Given the description of an element on the screen output the (x, y) to click on. 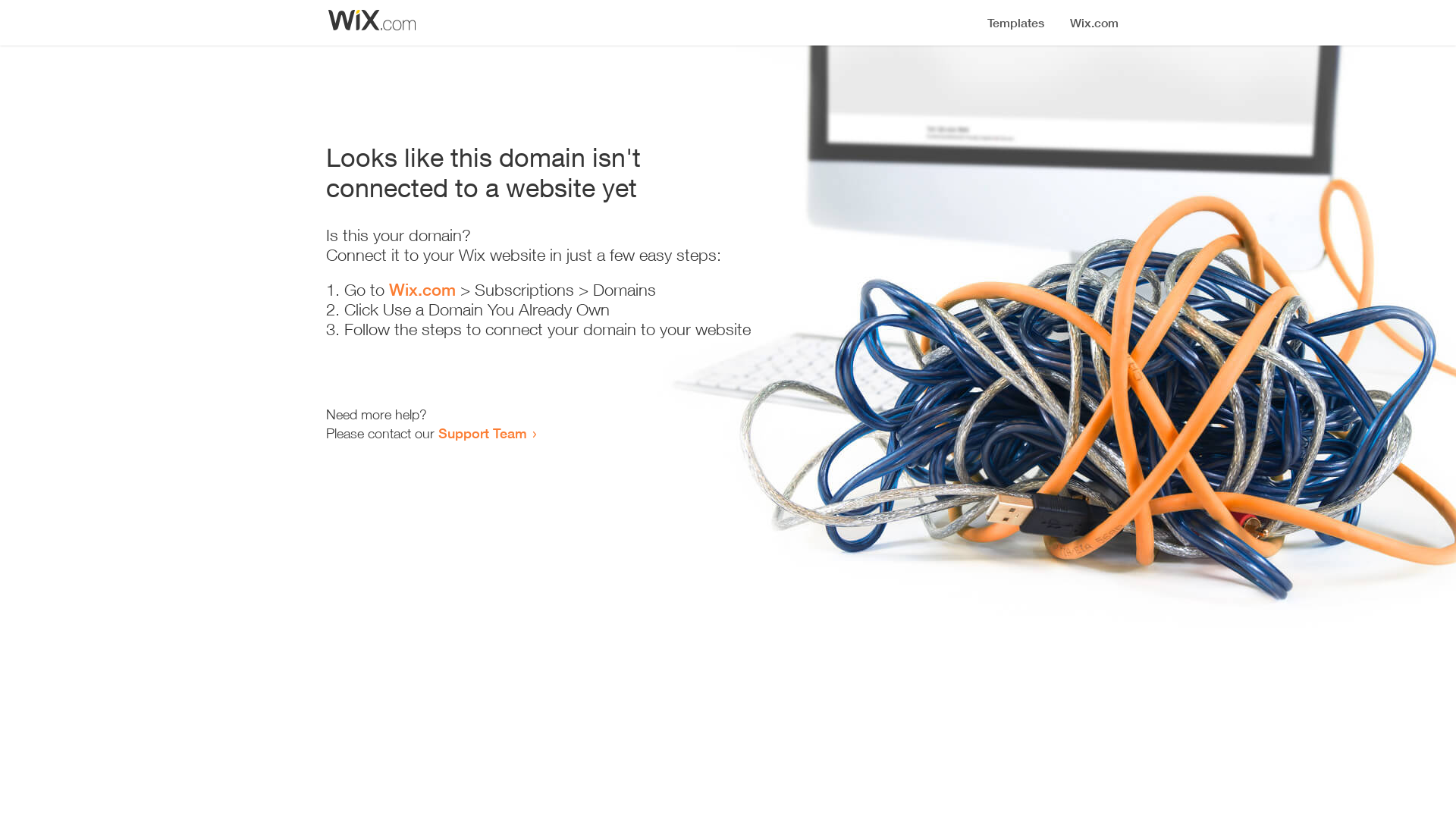
Support Team Element type: text (482, 432)
Wix.com Element type: text (422, 289)
